Given the description of an element on the screen output the (x, y) to click on. 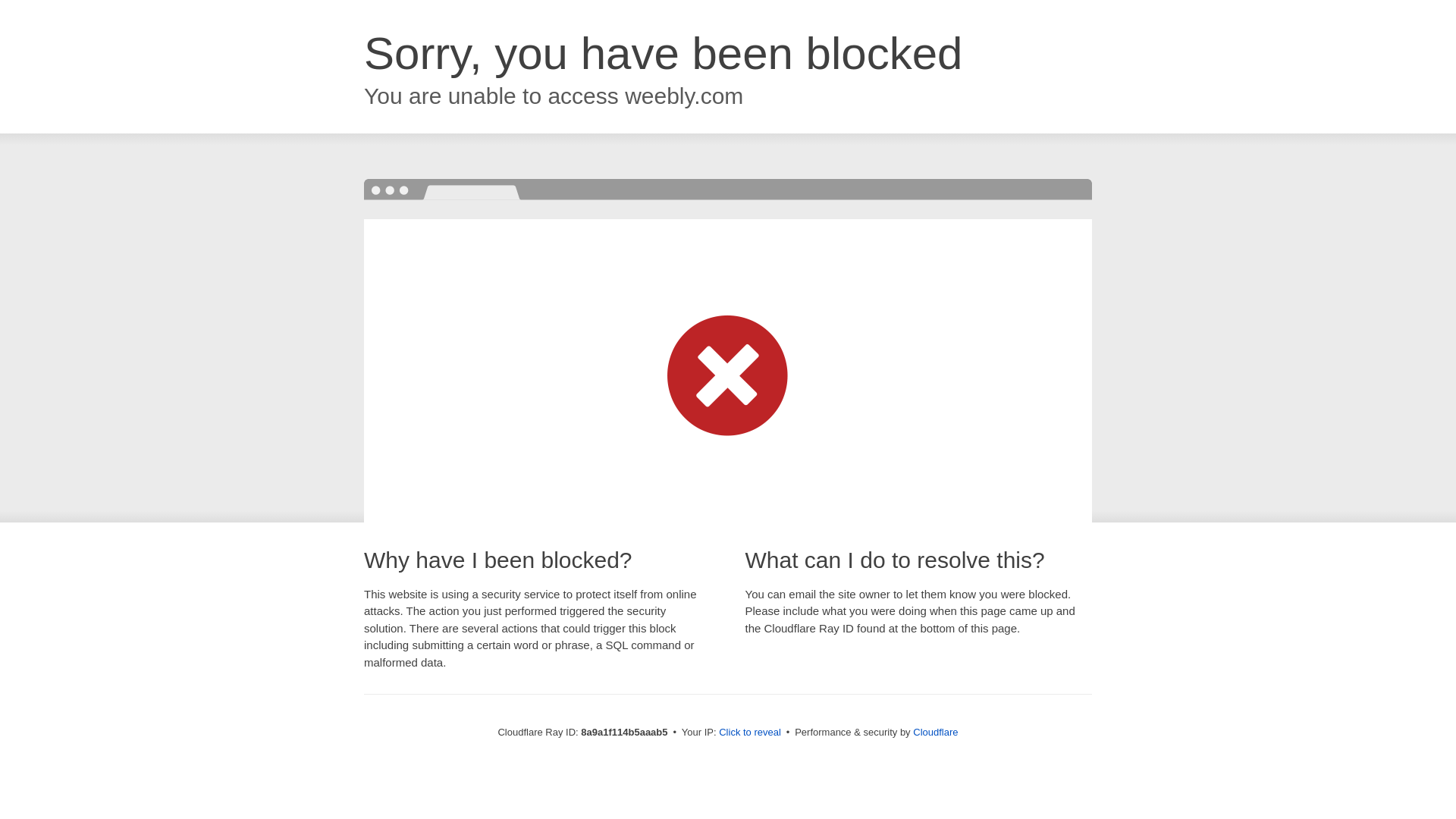
Click to reveal (749, 732)
Cloudflare (935, 731)
